Given the description of an element on the screen output the (x, y) to click on. 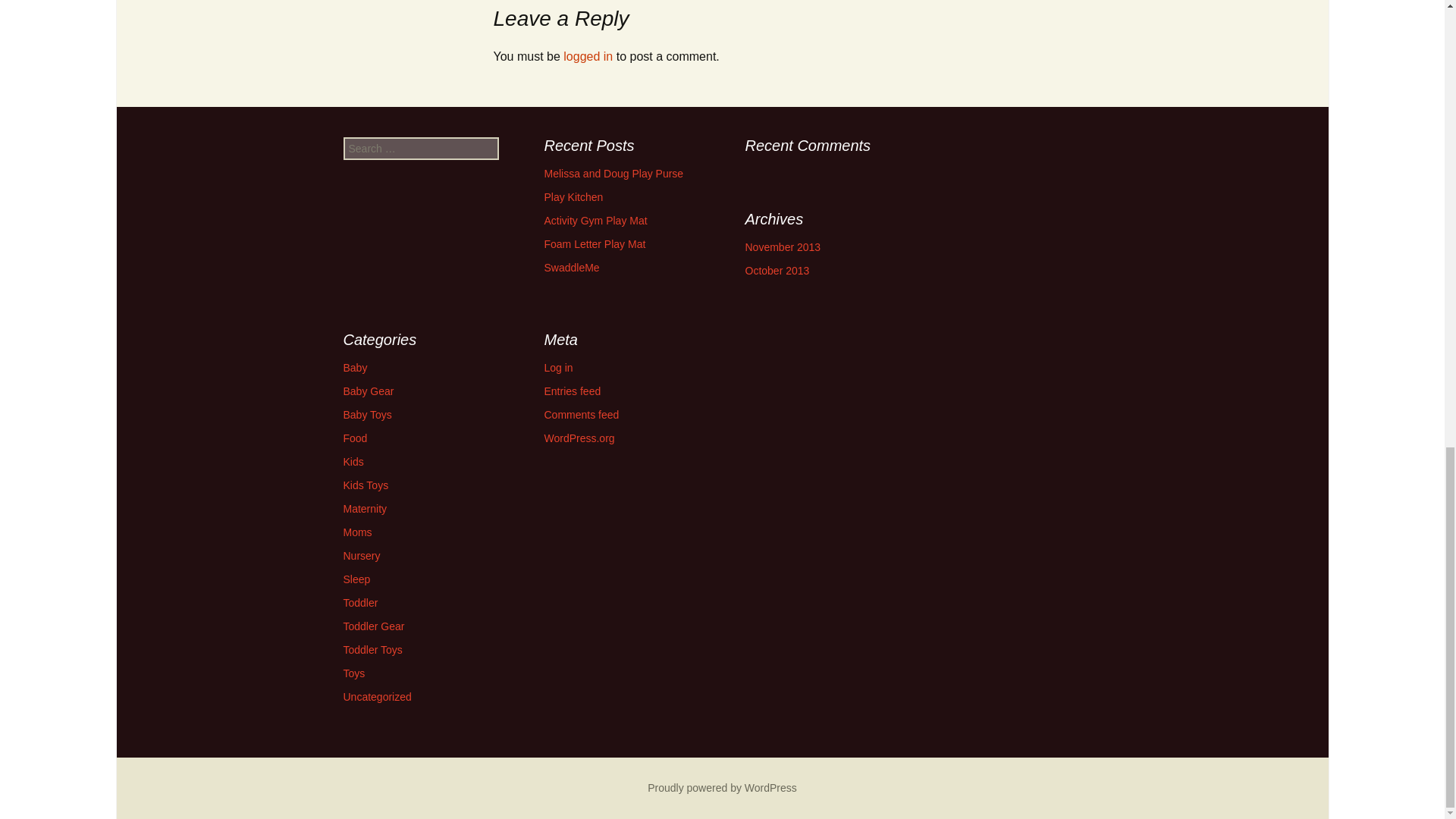
logged in (587, 56)
Baby Toys (366, 414)
Sleep (355, 579)
Maternity (364, 508)
Foam Letter Play Mat (595, 244)
Play Kitchen (574, 196)
Food (354, 438)
Moms (356, 532)
Kids (352, 461)
Melissa and Doug Play Purse (614, 173)
